Given the description of an element on the screen output the (x, y) to click on. 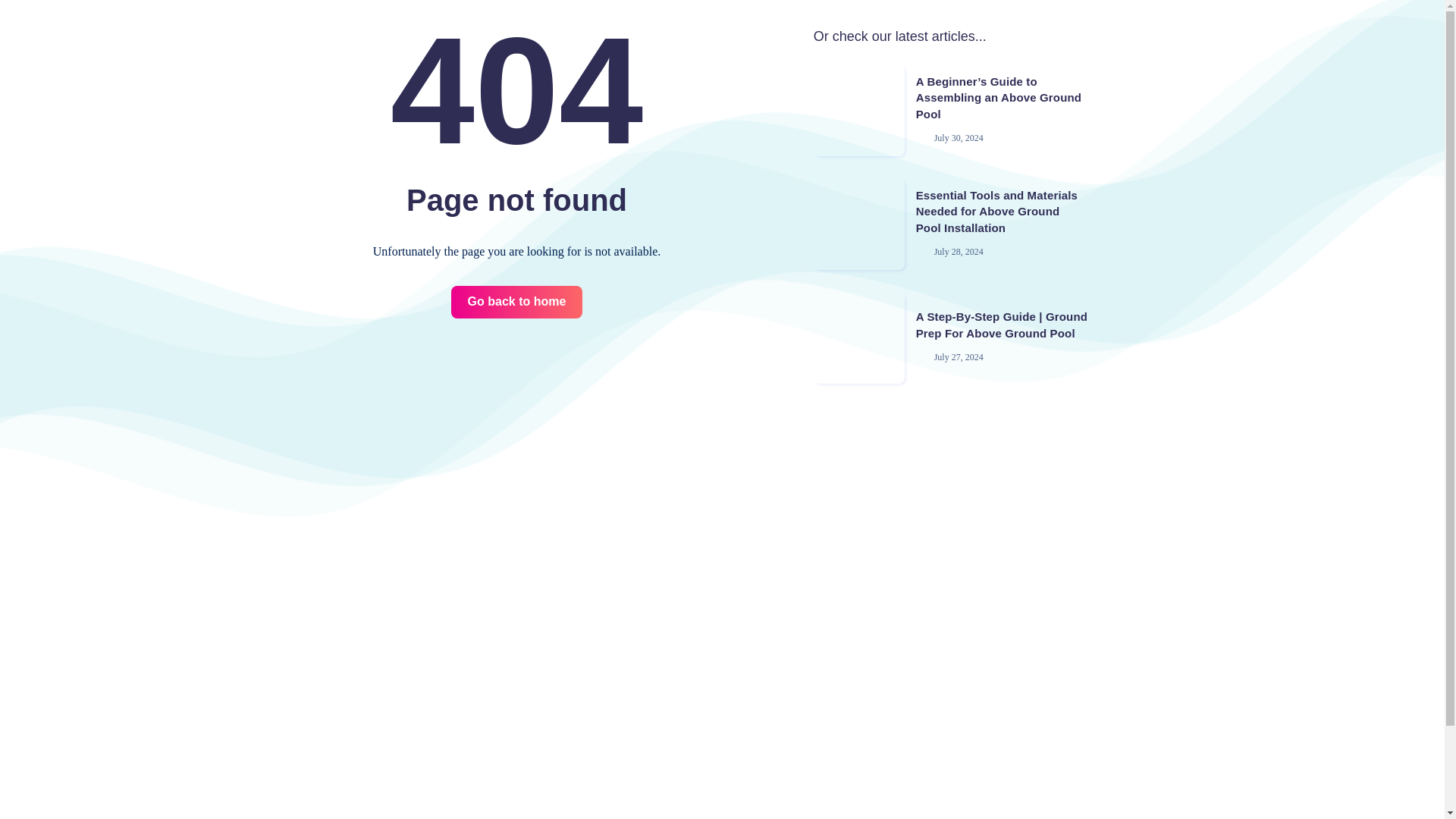
Go back to home (517, 301)
